Given the description of an element on the screen output the (x, y) to click on. 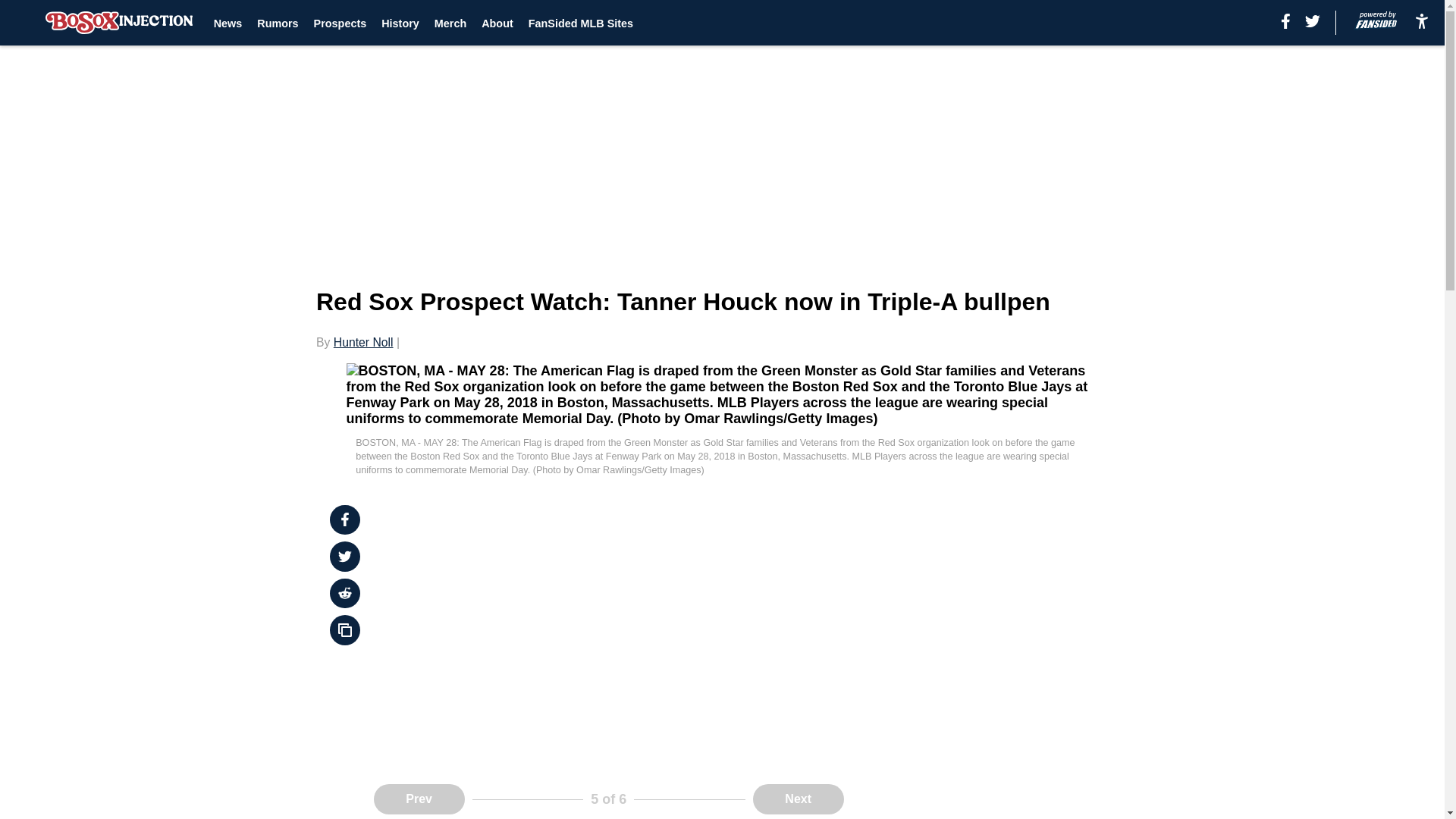
Next (798, 798)
Prospects (340, 23)
Prev (419, 798)
About (497, 23)
History (400, 23)
FanSided MLB Sites (580, 23)
Rumors (277, 23)
News (228, 23)
Hunter Noll (363, 341)
Merch (449, 23)
